Given the description of an element on the screen output the (x, y) to click on. 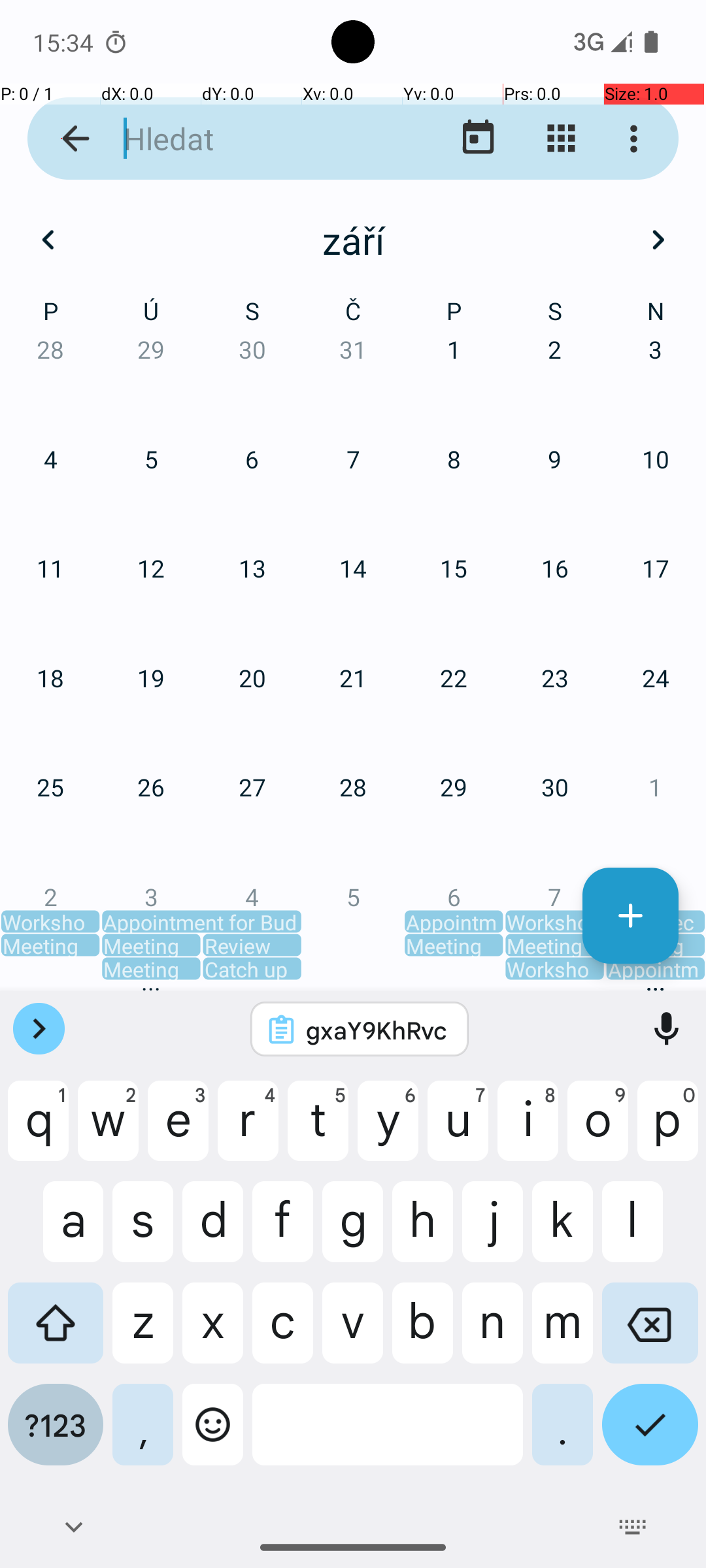
září Element type: android.widget.TextView (352, 239)
gxaY9KhRvc Element type: android.widget.TextView (376, 1029)
